Given the description of an element on the screen output the (x, y) to click on. 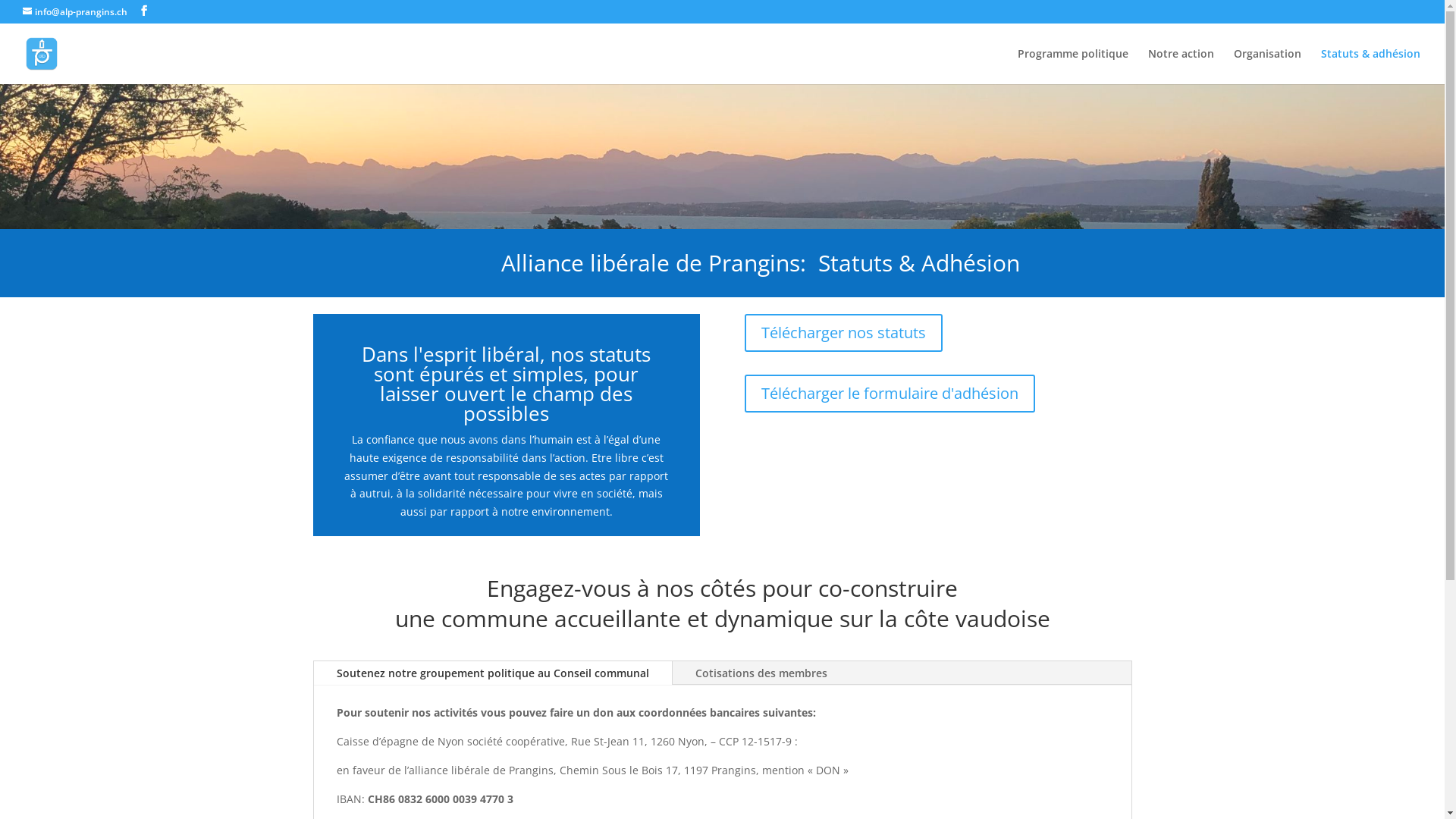
Programme politique Element type: text (1072, 66)
info@alp-prangins.ch Element type: text (74, 11)
Cotisations des membres Element type: text (760, 673)
Soutenez notre groupement politique au Conseil communal Element type: text (492, 673)
Organisation Element type: text (1267, 66)
Notre action Element type: text (1181, 66)
